Given the description of an element on the screen output the (x, y) to click on. 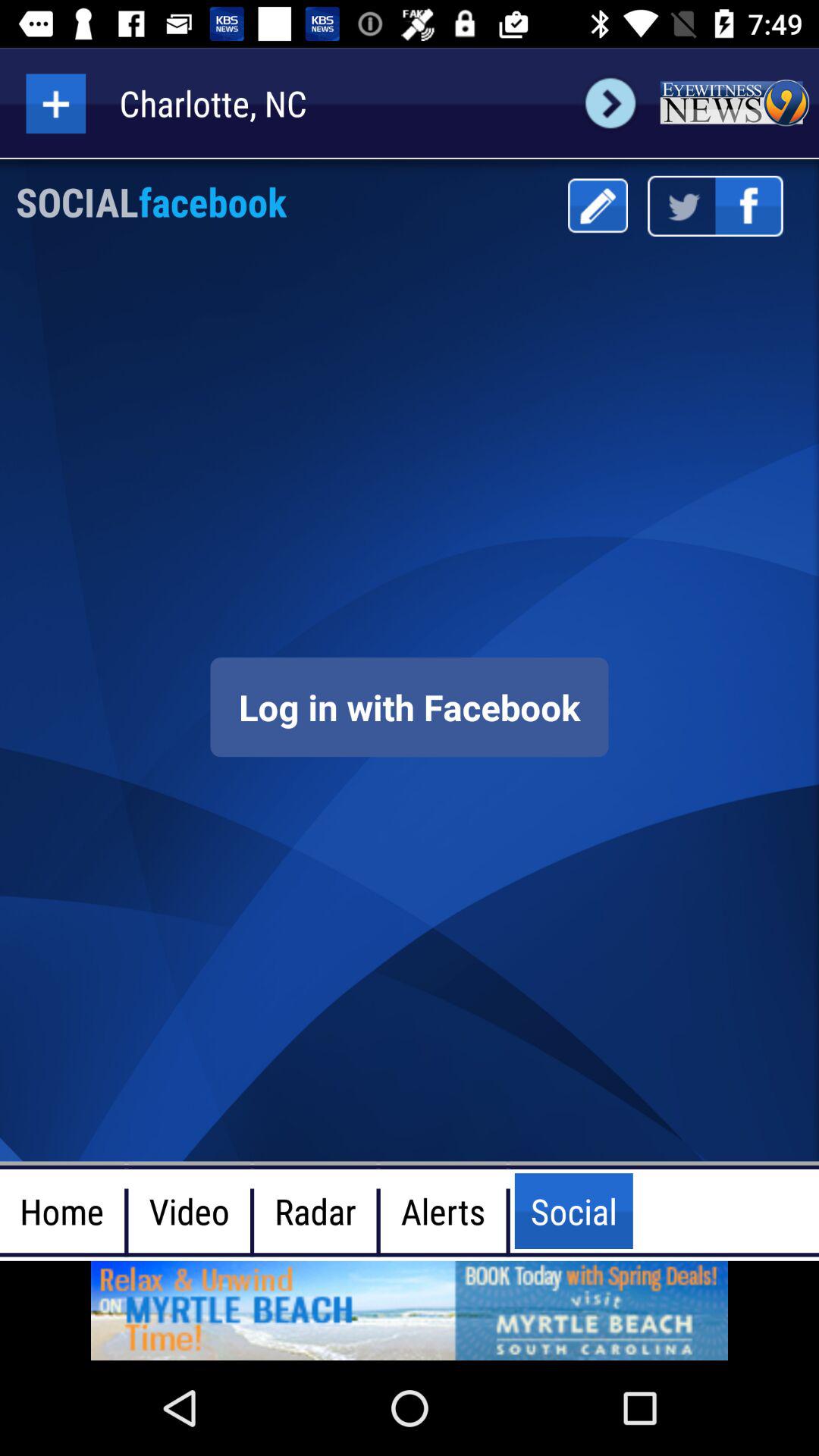
click bottom advertisement (409, 1310)
